Given the description of an element on the screen output the (x, y) to click on. 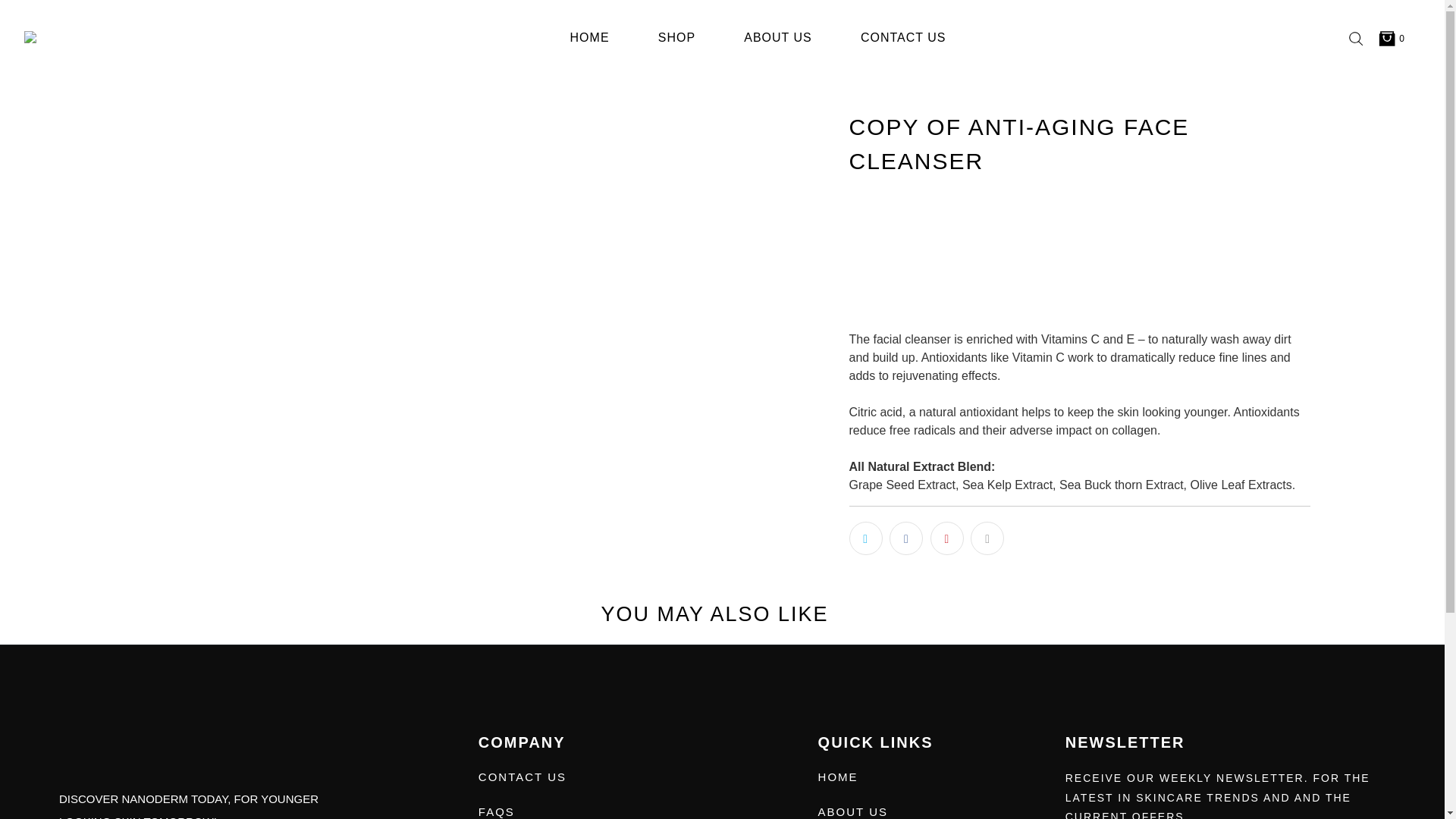
Share this on Twitter (865, 538)
Share this on Facebook (906, 538)
Search (1355, 37)
nanoderm (74, 37)
Share this on Pinterest (946, 538)
Email this to a friend (987, 538)
